Given the description of an element on the screen output the (x, y) to click on. 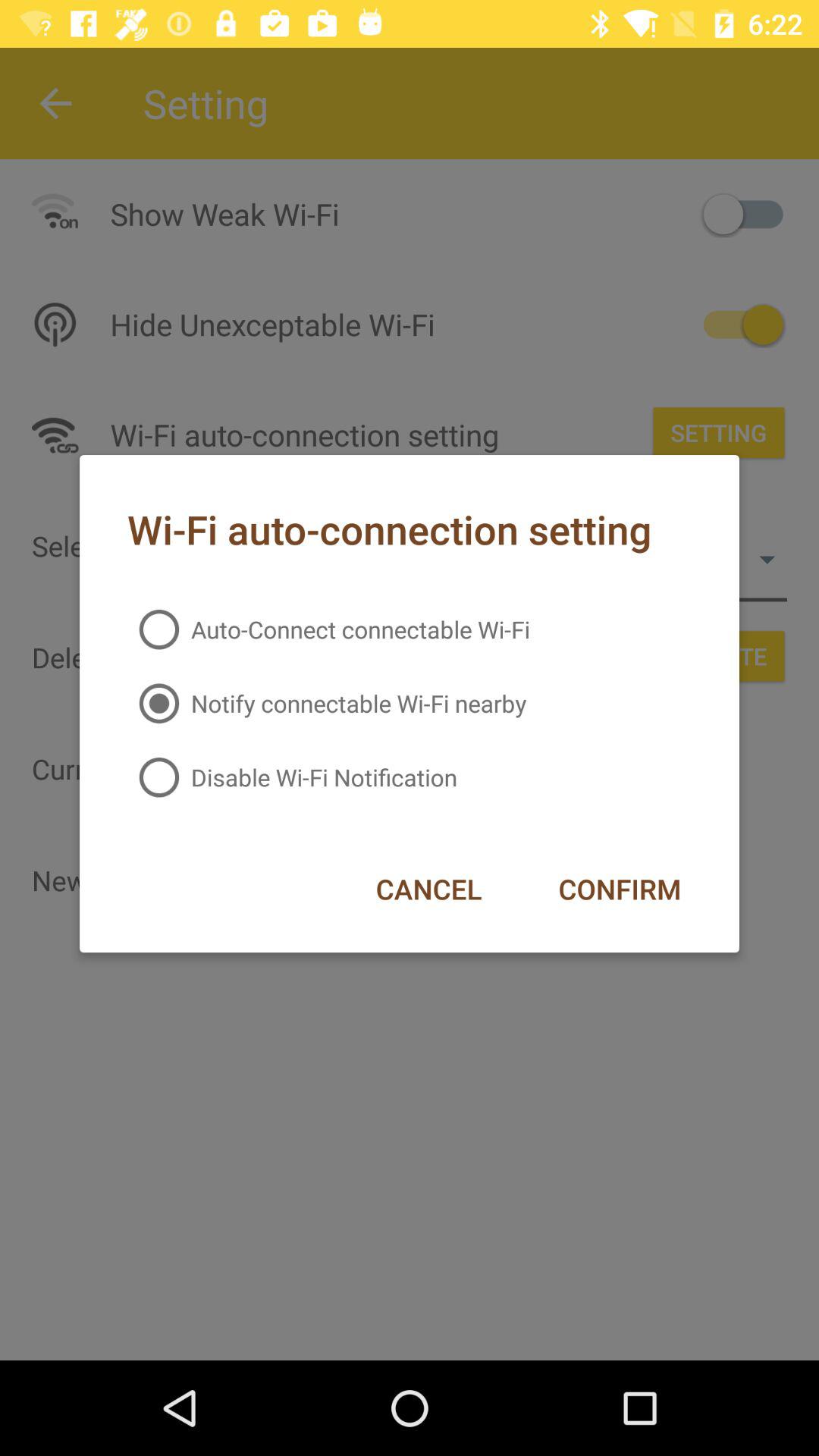
press the icon next to confirm item (428, 888)
